Given the description of an element on the screen output the (x, y) to click on. 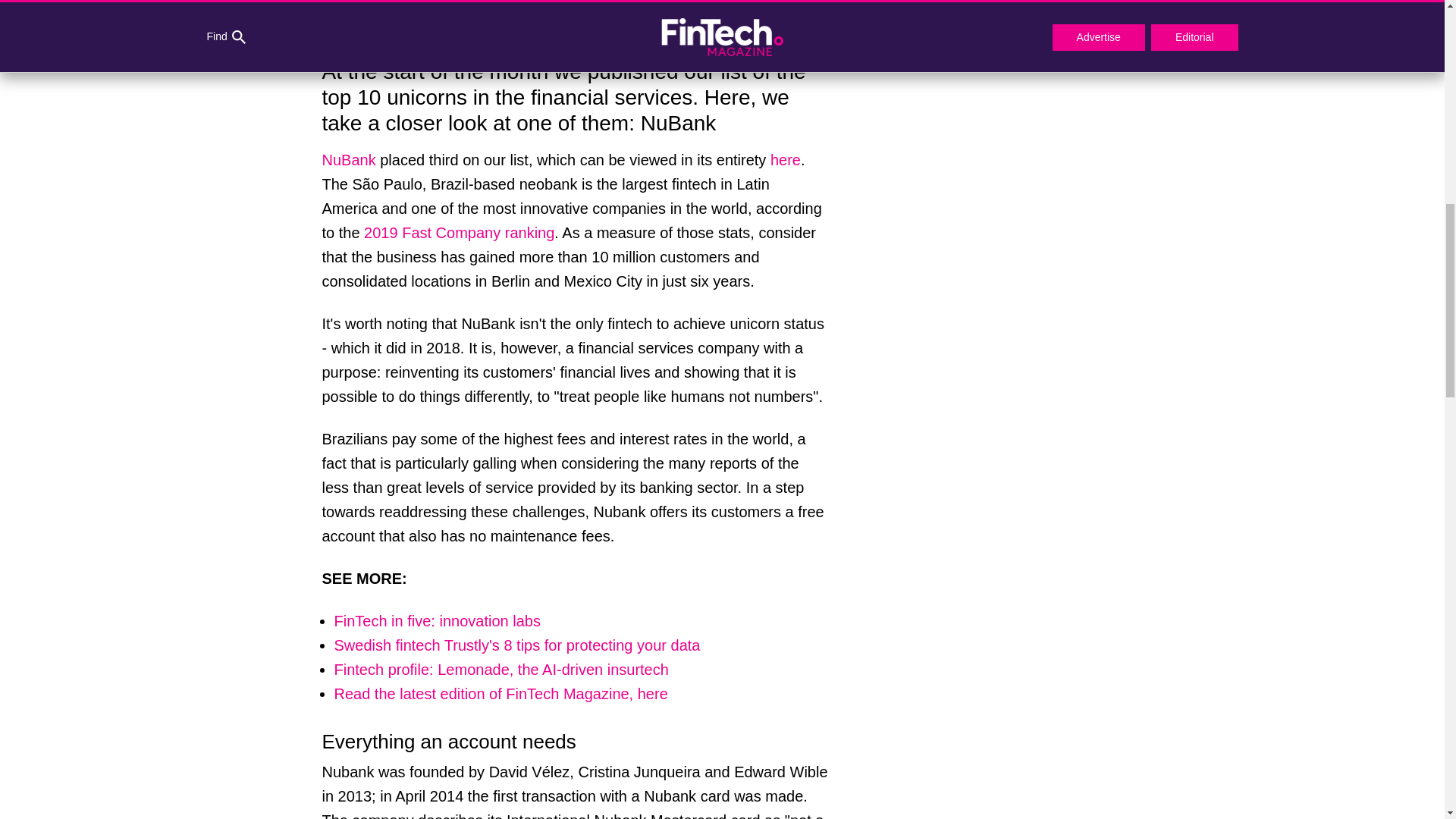
2019 Fast Company ranking (459, 232)
Fintech profile: Lemonade, the AI-driven insurtech (500, 669)
Read the latest edition of FinTech Magazine, here (499, 693)
here (785, 159)
Swedish fintech Trustly's 8 tips for protecting your data (516, 645)
F (337, 620)
inTech in five: innovation labs (441, 620)
NuBank (348, 159)
